Given the description of an element on the screen output the (x, y) to click on. 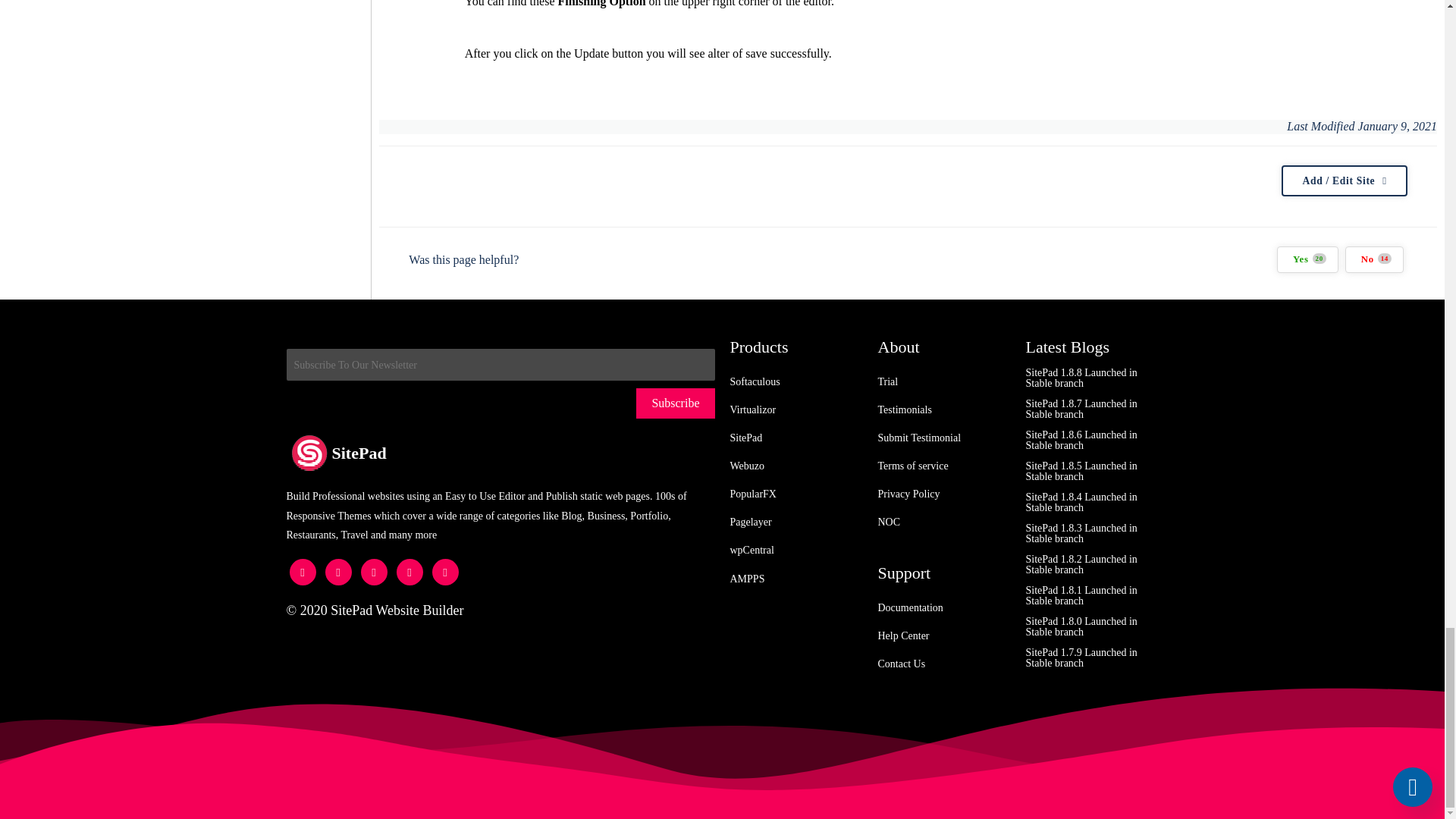
logo (308, 452)
14 persons found this not useful (1374, 259)
20 person found this useful (1307, 259)
